Given the description of an element on the screen output the (x, y) to click on. 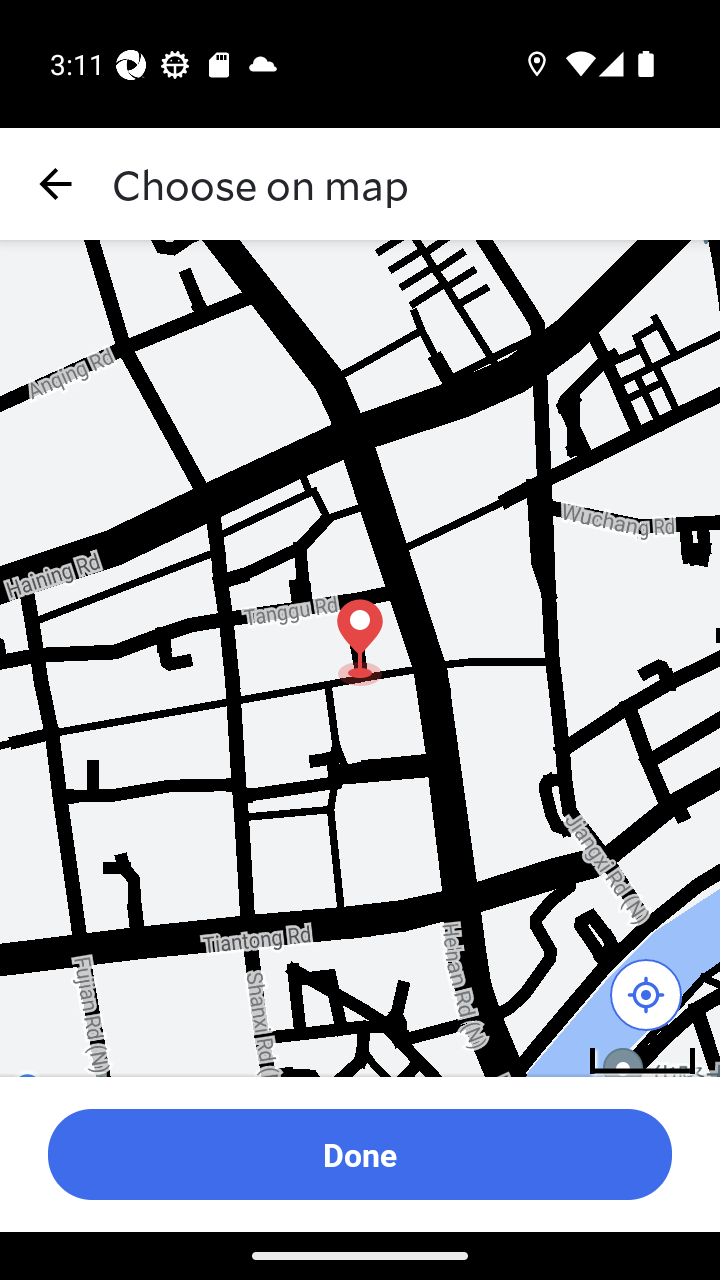
navigation_button (56, 184)
Done (359, 1154)
